Given the description of an element on the screen output the (x, y) to click on. 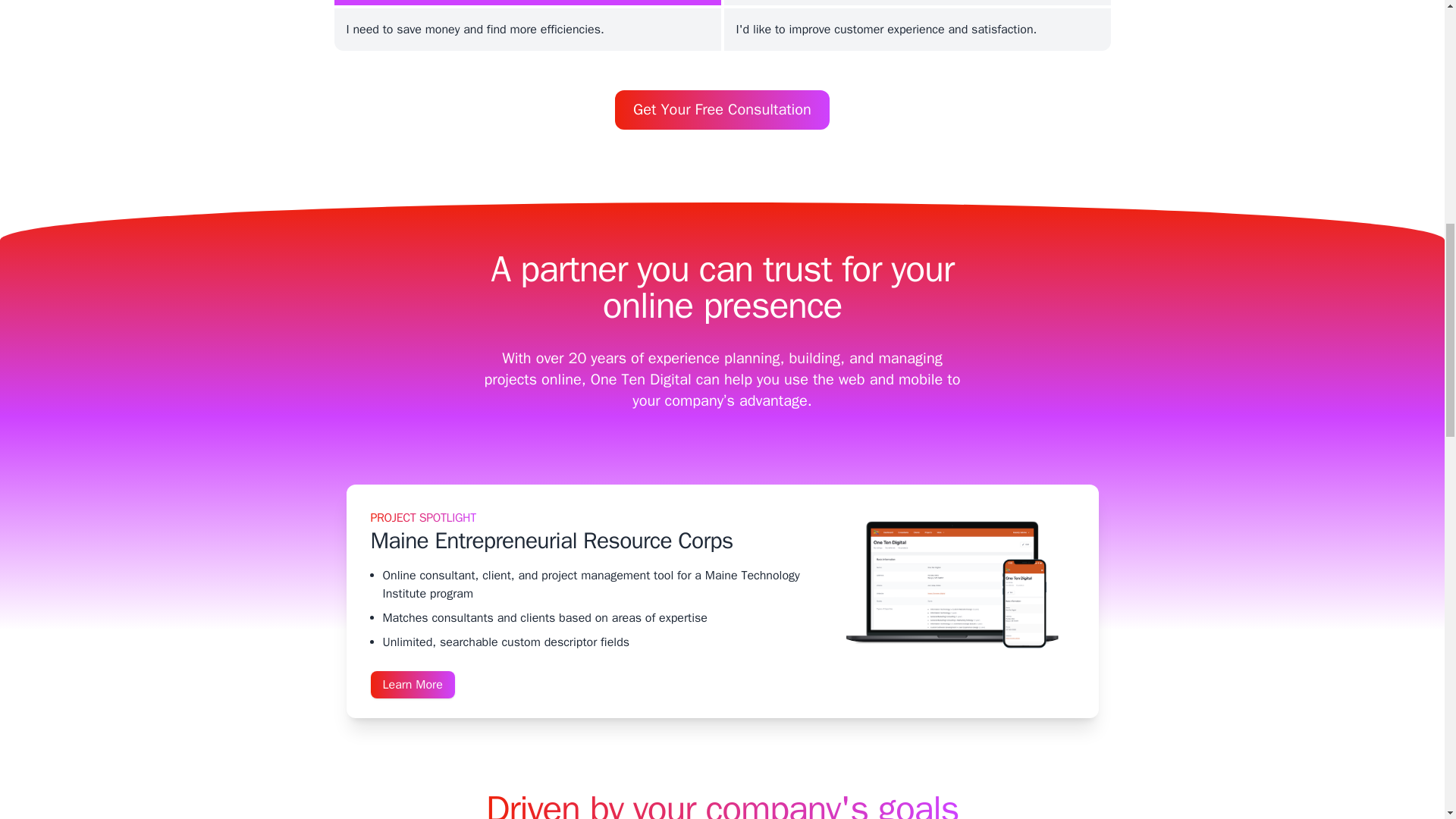
I'd like to improve customer experience and satisfaction. (916, 29)
I think I have the next big idea. (526, 2)
Learn More (411, 684)
I want to level up our marketing. (916, 2)
Get Your Free Consultation (721, 109)
I need to save money and find more efficiencies. (526, 29)
